Given the description of an element on the screen output the (x, y) to click on. 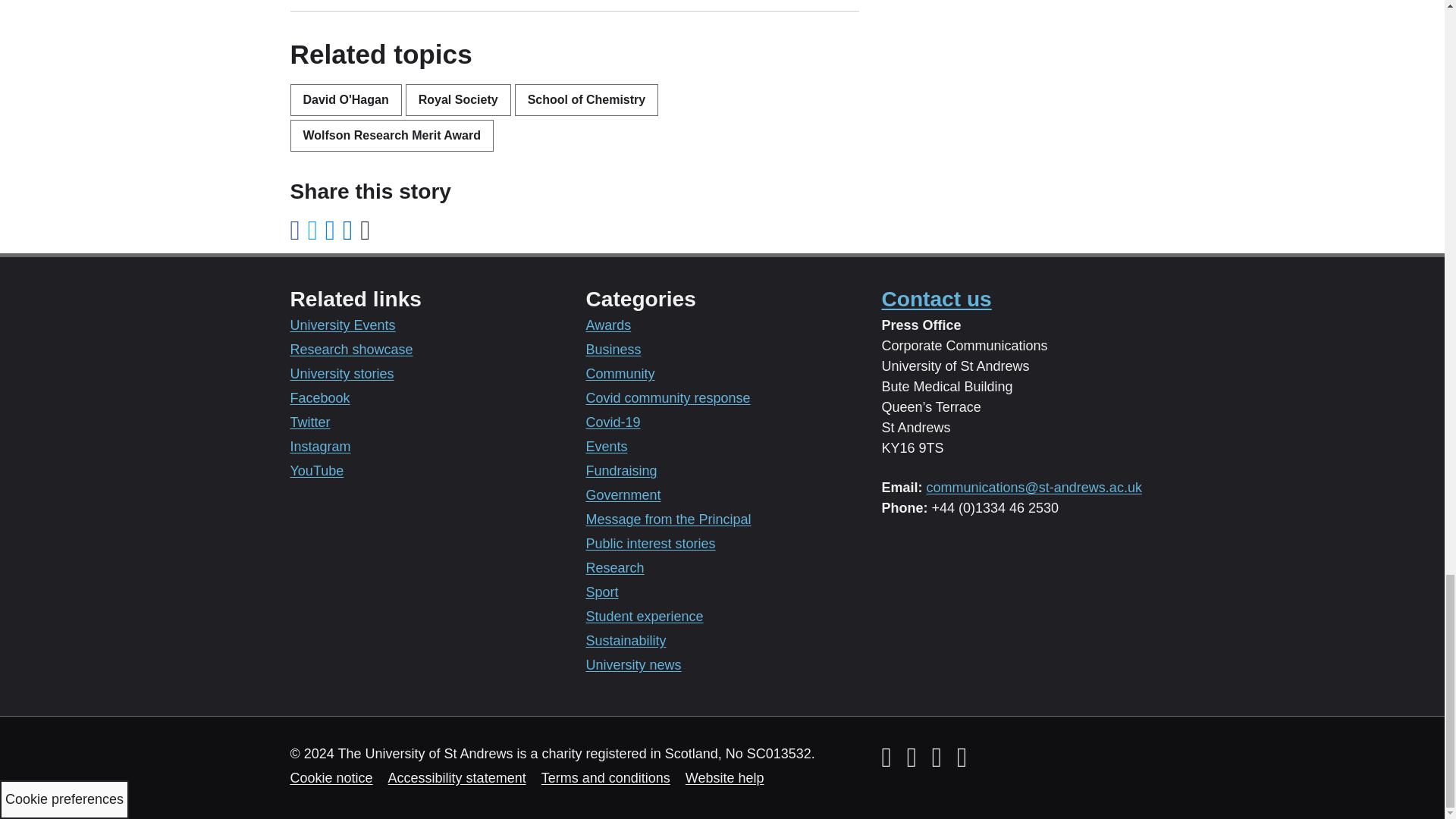
David O'Hagan (345, 100)
School of Chemistry (587, 100)
Wolfson Research Merit Award (391, 135)
Royal Society (458, 100)
